Given the description of an element on the screen output the (x, y) to click on. 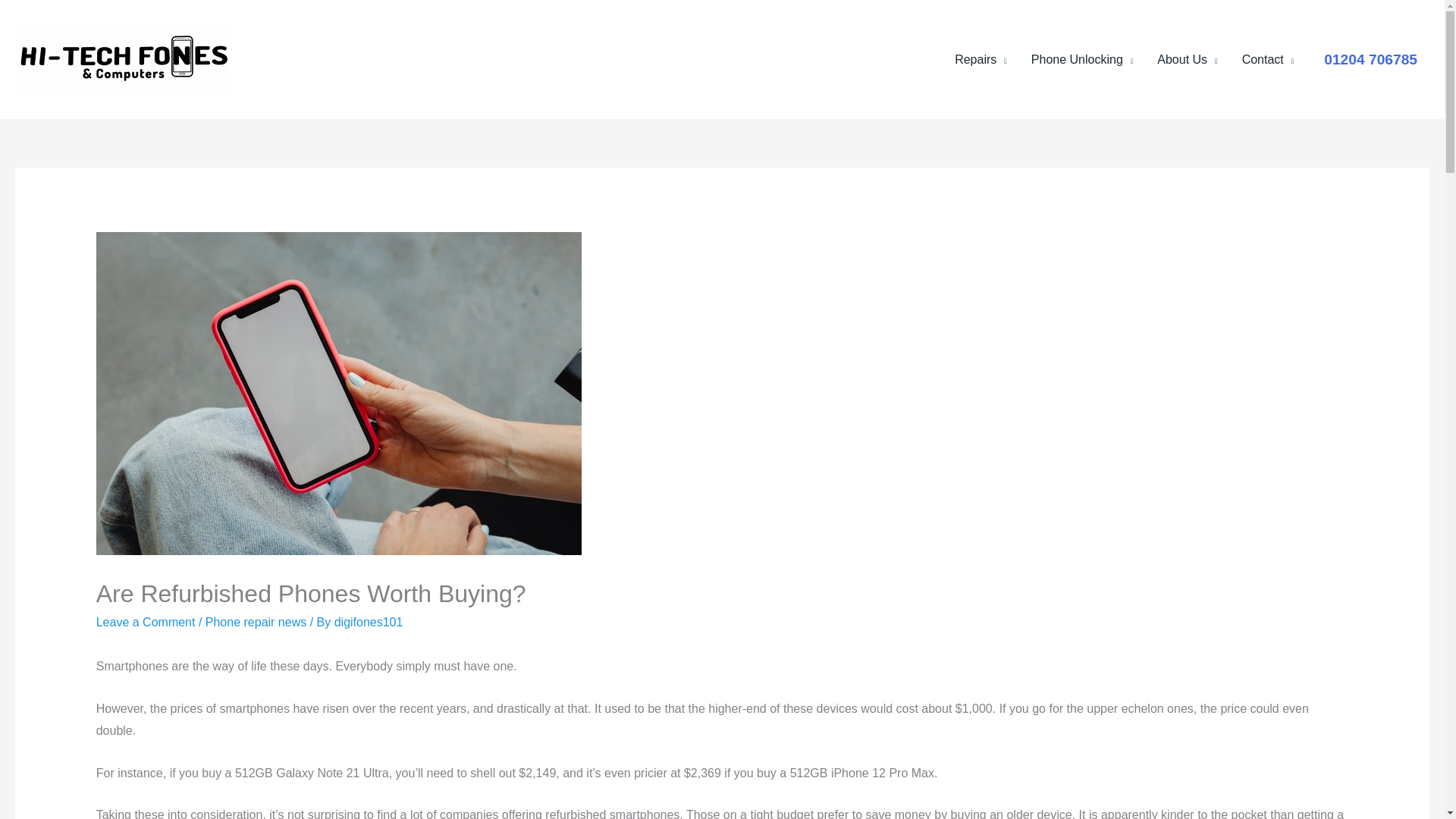
Phone repair news (255, 621)
View all posts by digifones101 (368, 621)
Contact (1268, 59)
About Us (1186, 59)
Repairs (980, 59)
Leave a Comment (145, 621)
01204 706785 (1369, 59)
digifones101 (368, 621)
Phone Unlocking (1081, 59)
